Given the description of an element on the screen output the (x, y) to click on. 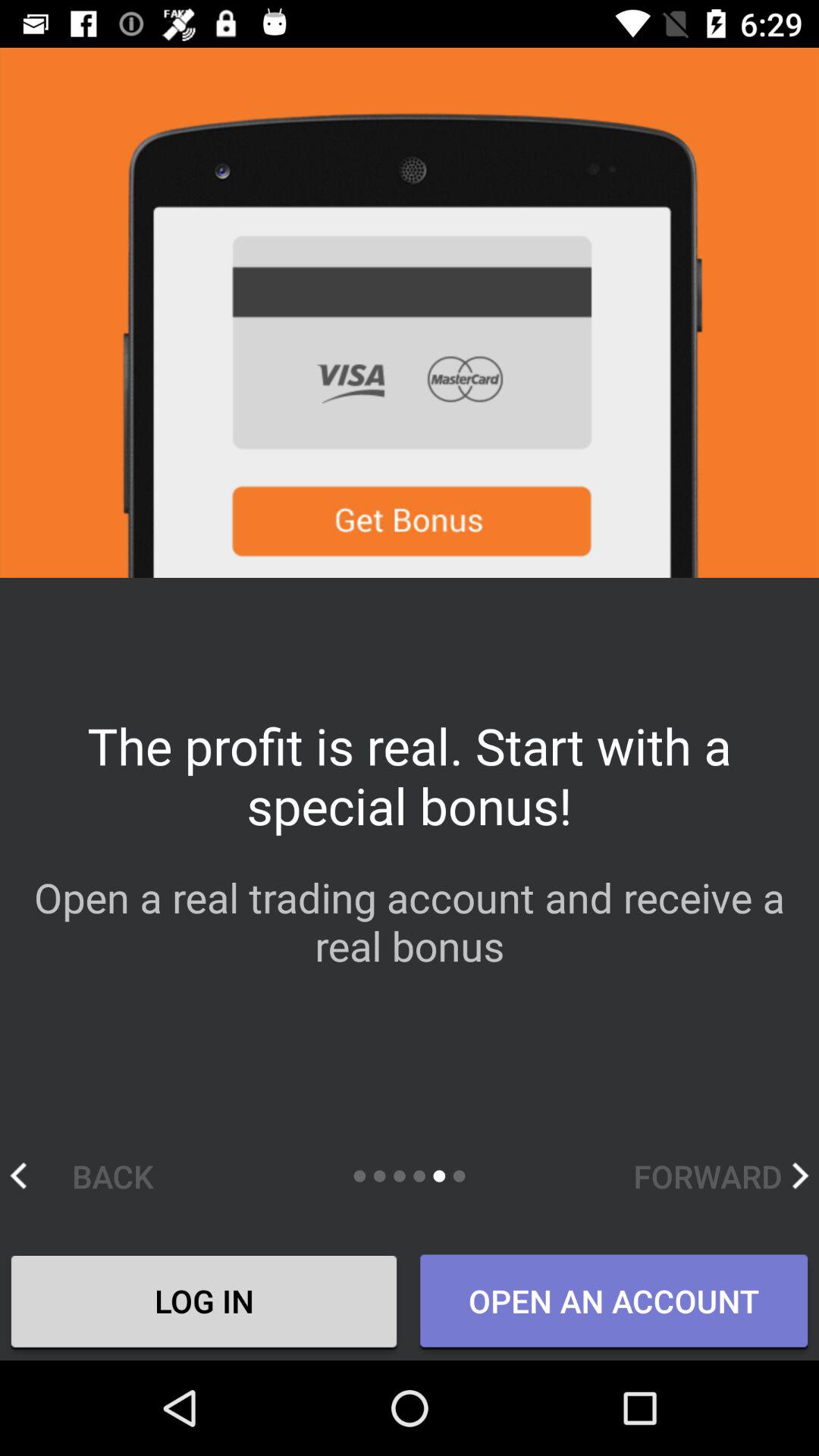
turn on forward item (720, 1175)
